Given the description of an element on the screen output the (x, y) to click on. 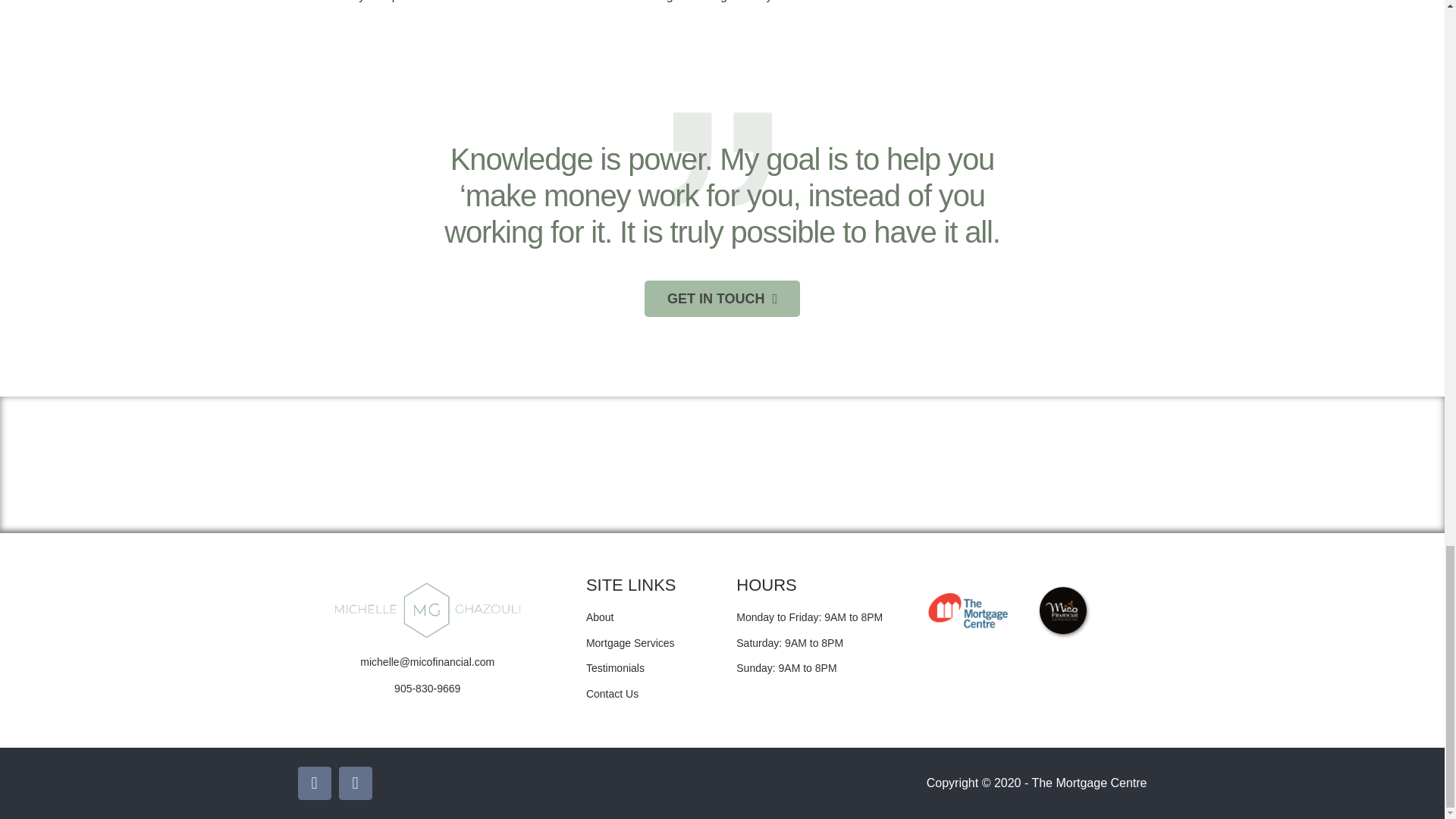
Mortgage Services (647, 643)
About (647, 618)
Testimonials (647, 669)
GET IN TOUCH (722, 298)
905-830-9669 (427, 689)
Contact Us (647, 694)
